Given the description of an element on the screen output the (x, y) to click on. 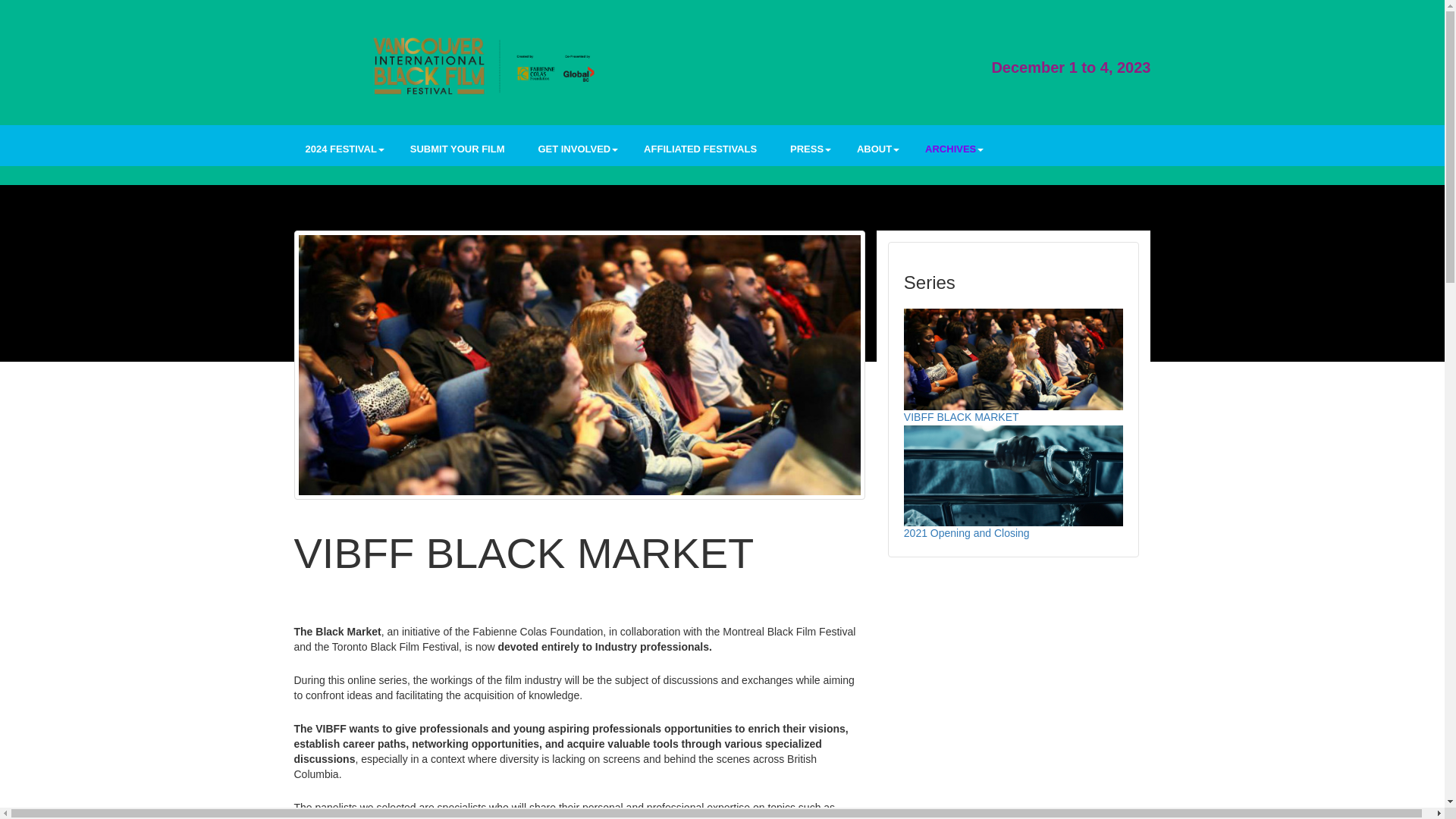
ABOUT (873, 151)
PRESS (806, 151)
AFFILIATED FESTIVALS (699, 151)
GET INVOLVED (573, 151)
2024 FESTIVAL (341, 151)
ARCHIVES (950, 151)
SUBMIT YOUR FILM (457, 151)
